Given the description of an element on the screen output the (x, y) to click on. 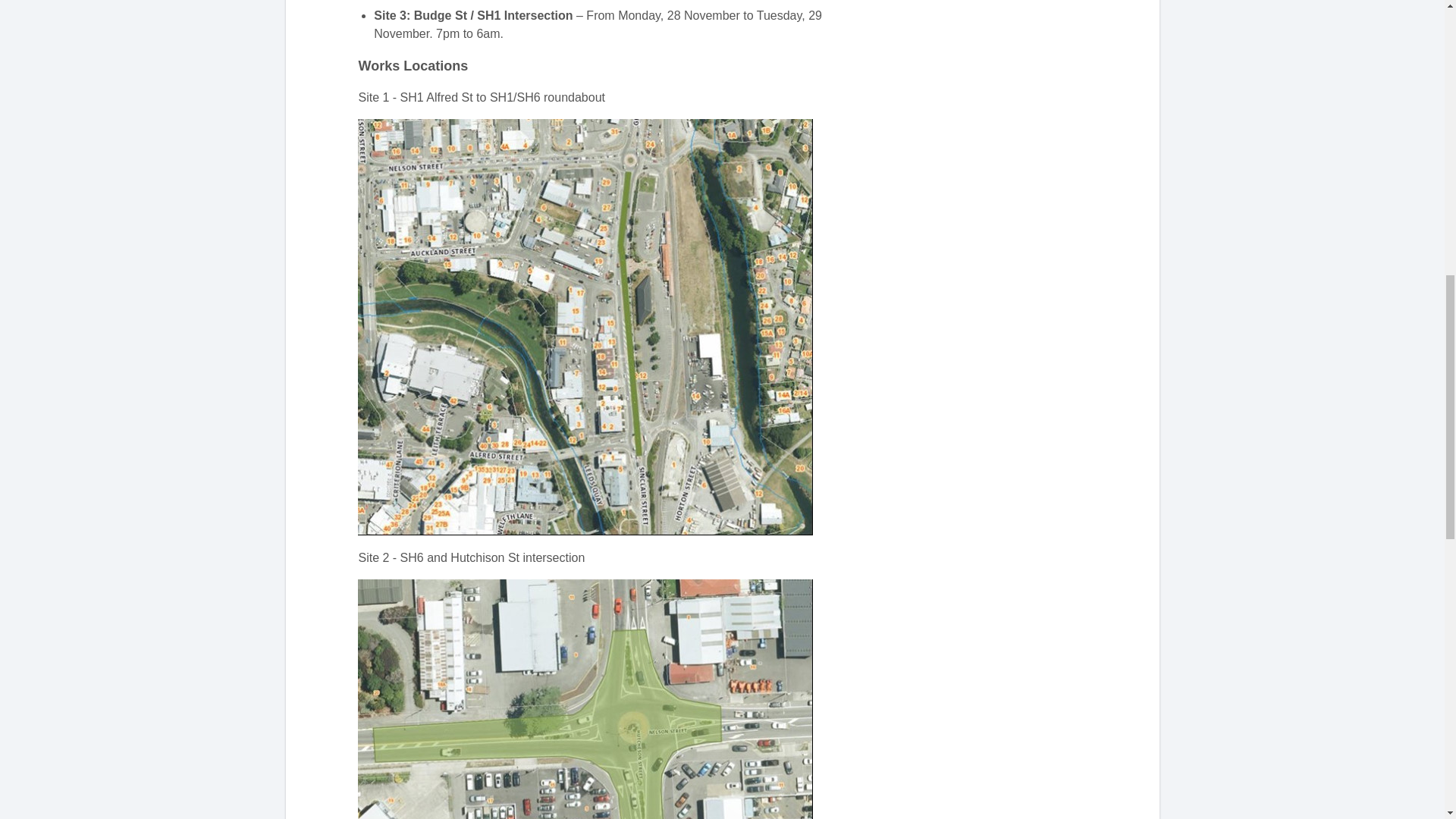
20221118 Blenheim site 2 (585, 699)
